Given the description of an element on the screen output the (x, y) to click on. 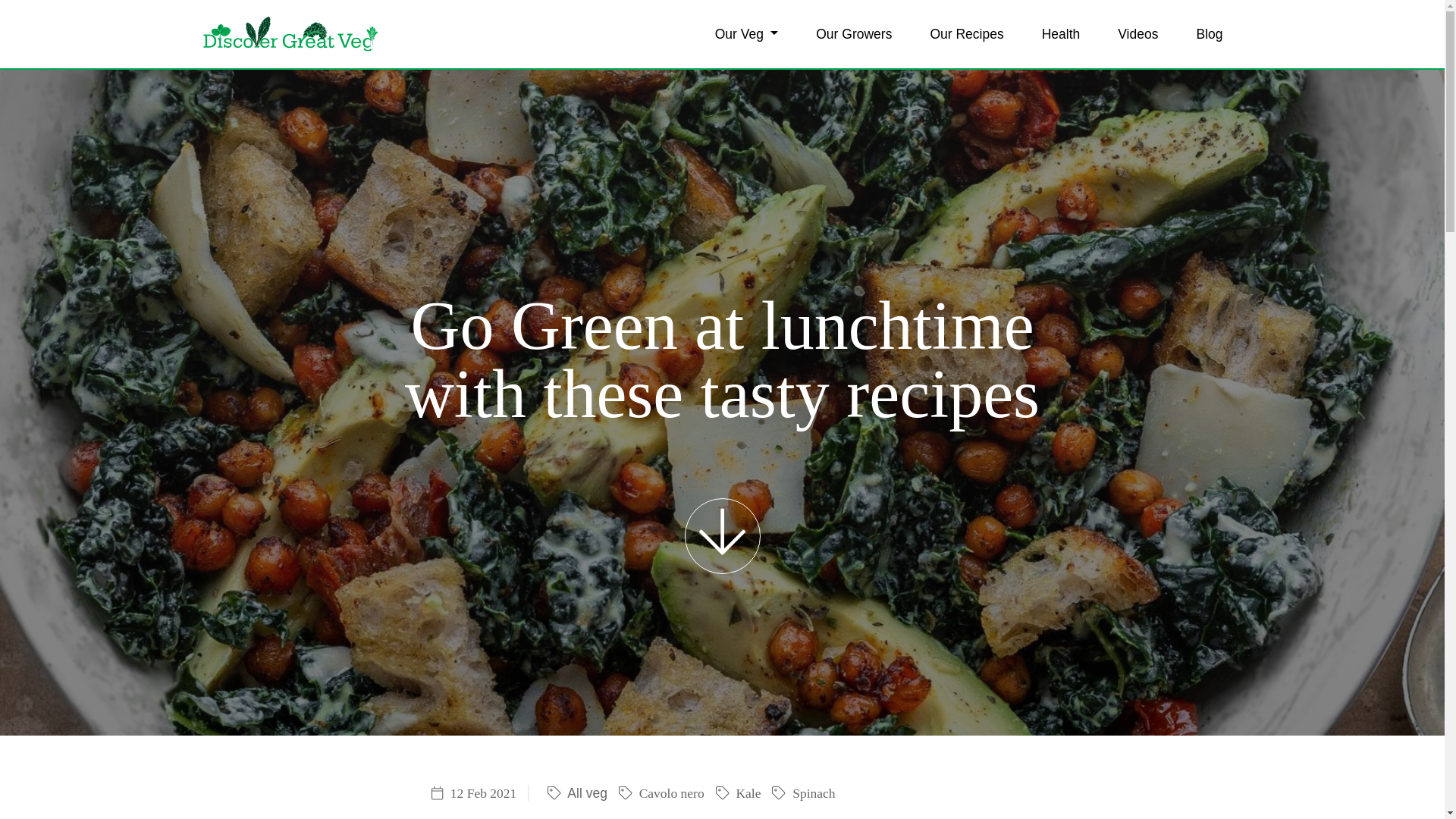
Cavolo nero (659, 792)
Kale (736, 792)
Our Veg (747, 33)
Our Recipes (966, 33)
Our Growers (853, 33)
Blog (1208, 33)
Videos (1137, 33)
Spinach (801, 792)
All veg (573, 792)
Health (1061, 33)
